Given the description of an element on the screen output the (x, y) to click on. 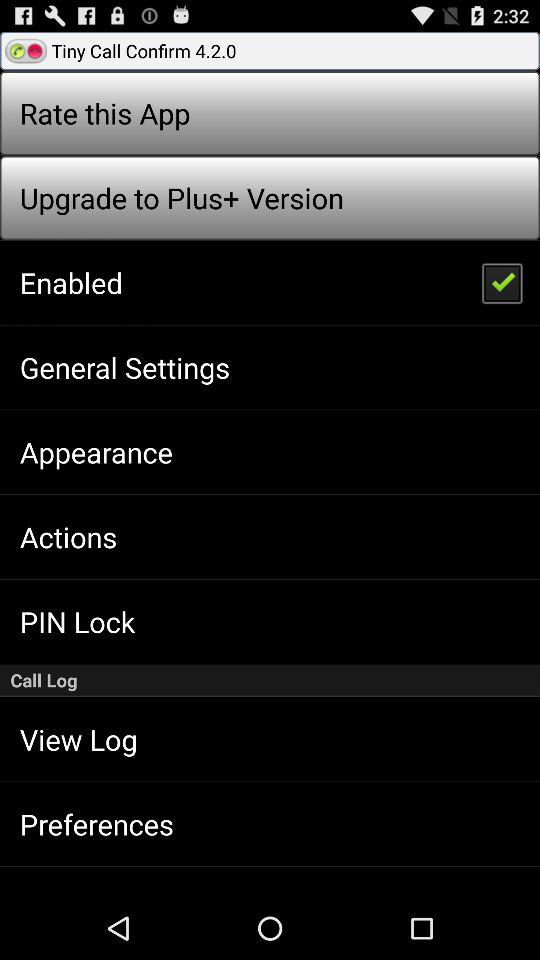
flip until general settings app (124, 367)
